Given the description of an element on the screen output the (x, y) to click on. 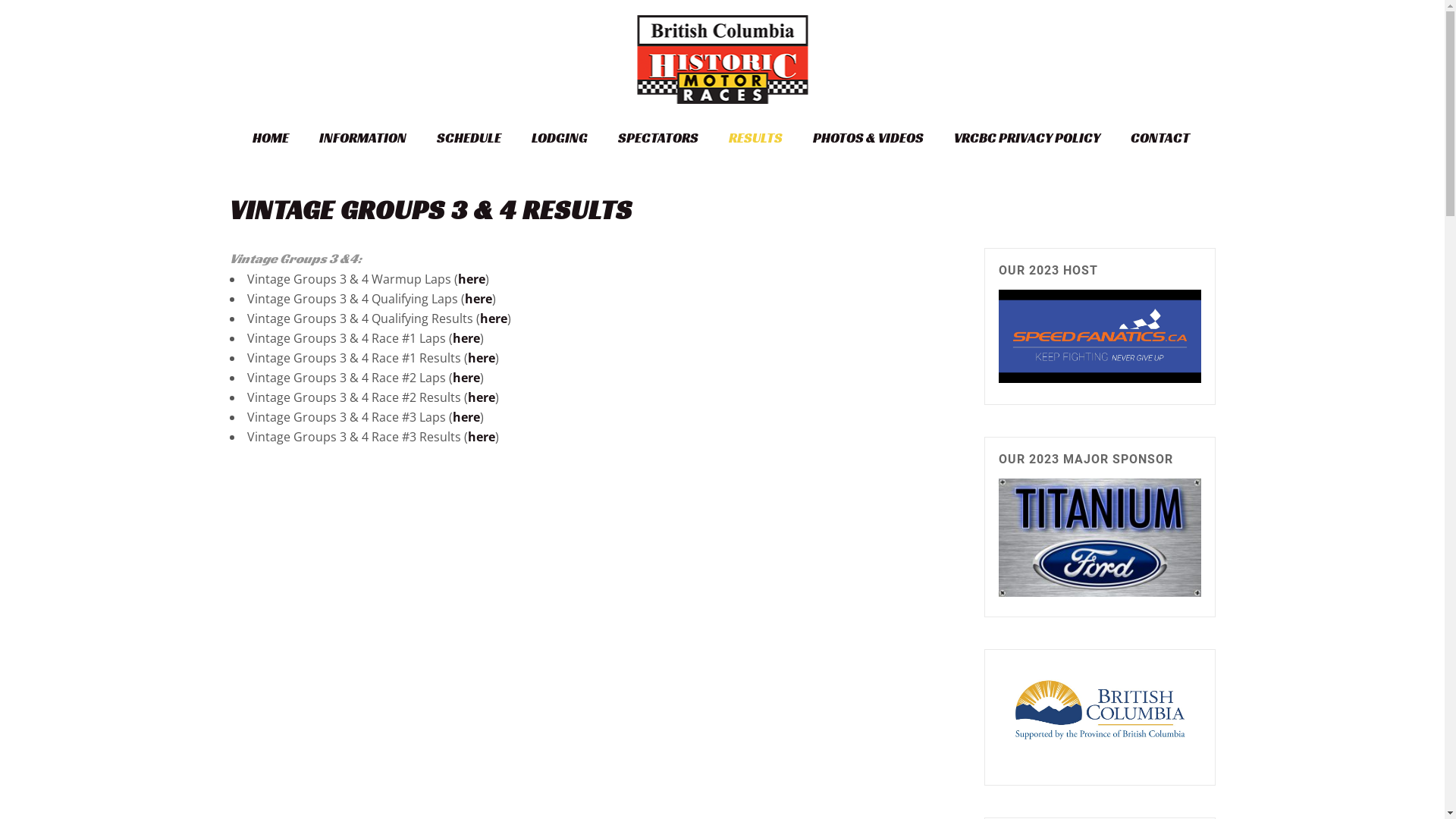
HOME Element type: text (269, 137)
here Element type: text (480, 397)
RESULTS Element type: text (754, 137)
here Element type: text (477, 298)
here Element type: text (465, 337)
PHOTOS & VIDEOS Element type: text (867, 137)
VRCBC PRIVACY POLICY Element type: text (1026, 137)
here Element type: text (480, 436)
here Element type: text (471, 278)
here Element type: text (465, 377)
LODGING Element type: text (558, 137)
INFORMATION Element type: text (361, 137)
here Element type: text (480, 357)
here Element type: text (465, 416)
SPECTATORS Element type: text (657, 137)
CONTACT Element type: text (1159, 137)
here Element type: text (492, 318)
SCHEDULE Element type: text (468, 137)
Titanium logo-short (1) Element type: hover (1098, 537)
